Given the description of an element on the screen output the (x, y) to click on. 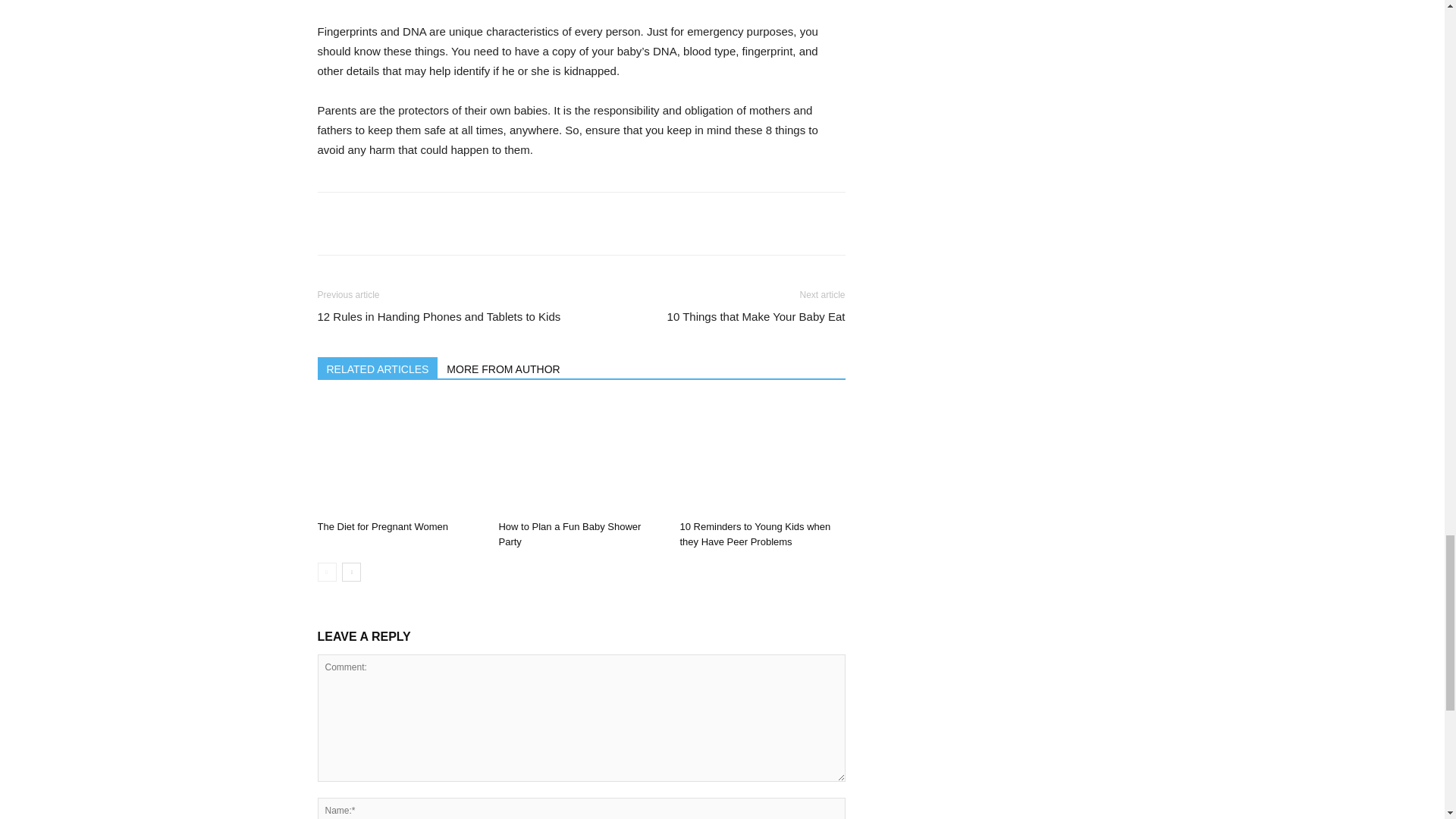
How to Plan a Fun Baby Shower Party (568, 533)
The Diet for Pregnant Women (399, 457)
10 Reminders to Young Kids when they Have Peer Problems (761, 457)
How to Plan a Fun Baby Shower Party (580, 457)
The Diet for Pregnant Women (381, 526)
10 Reminders to Young Kids when they Have Peer Problems (754, 533)
